Given the description of an element on the screen output the (x, y) to click on. 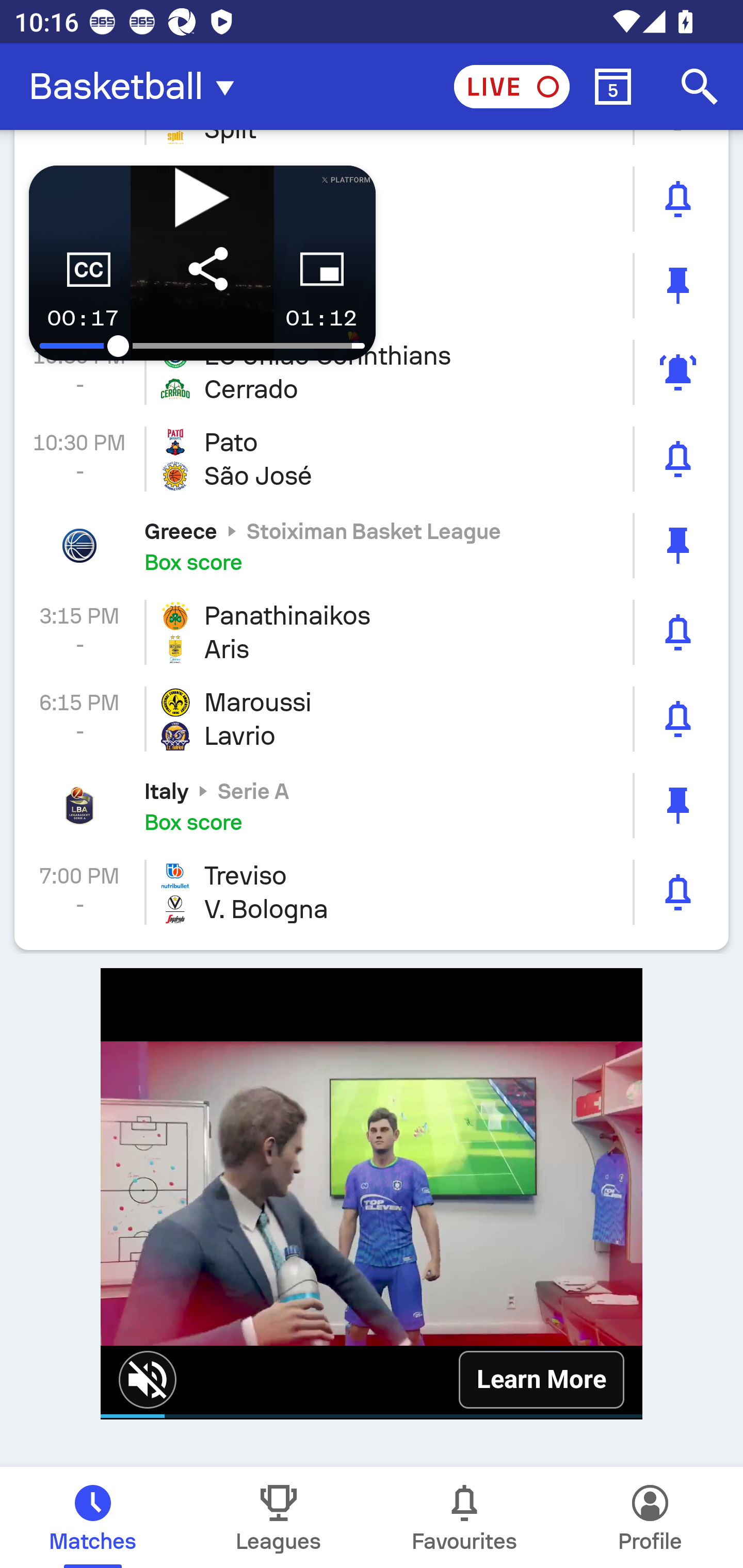
Basketball (137, 86)
Calendar (612, 86)
Search (699, 86)
10:30 PM - Pato São José (371, 458)
Greece Stoiximan Basket League Box score (371, 545)
3:15 PM - Panathinaikos Aris (371, 632)
6:15 PM - Maroussi Lavrio (371, 718)
Italy Serie A Box score (371, 805)
7:00 PM - Treviso V. Bologna (371, 892)
3087.0 Learn More (371, 1193)
Learn More (541, 1379)
Leagues (278, 1517)
Favourites (464, 1517)
Profile (650, 1517)
